Given the description of an element on the screen output the (x, y) to click on. 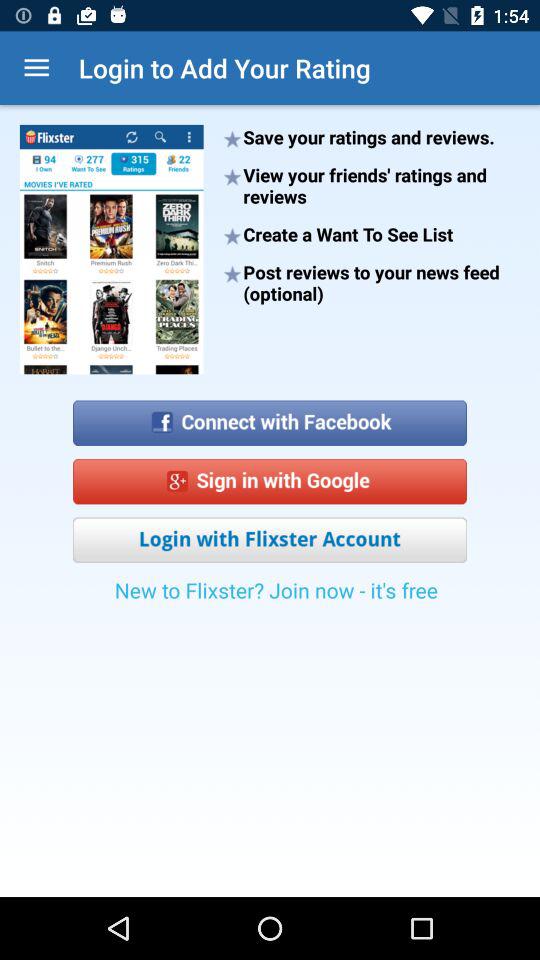
login with flixter account (270, 539)
